Given the description of an element on the screen output the (x, y) to click on. 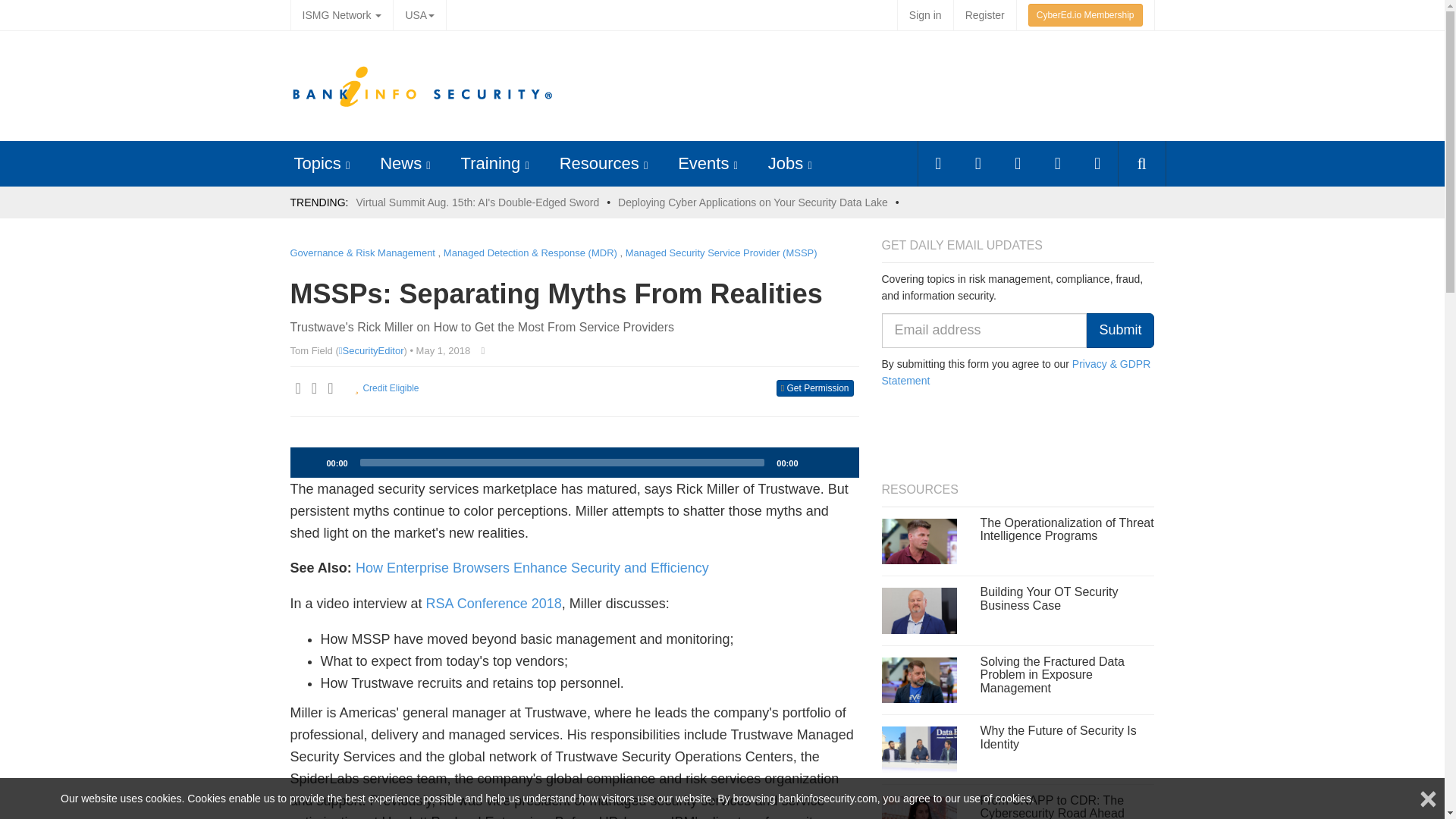
CyberEd.io Membership (1084, 15)
ISMG Network (341, 15)
USA (418, 15)
Register (984, 15)
Topics (317, 162)
Sign in (925, 15)
